Given the description of an element on the screen output the (x, y) to click on. 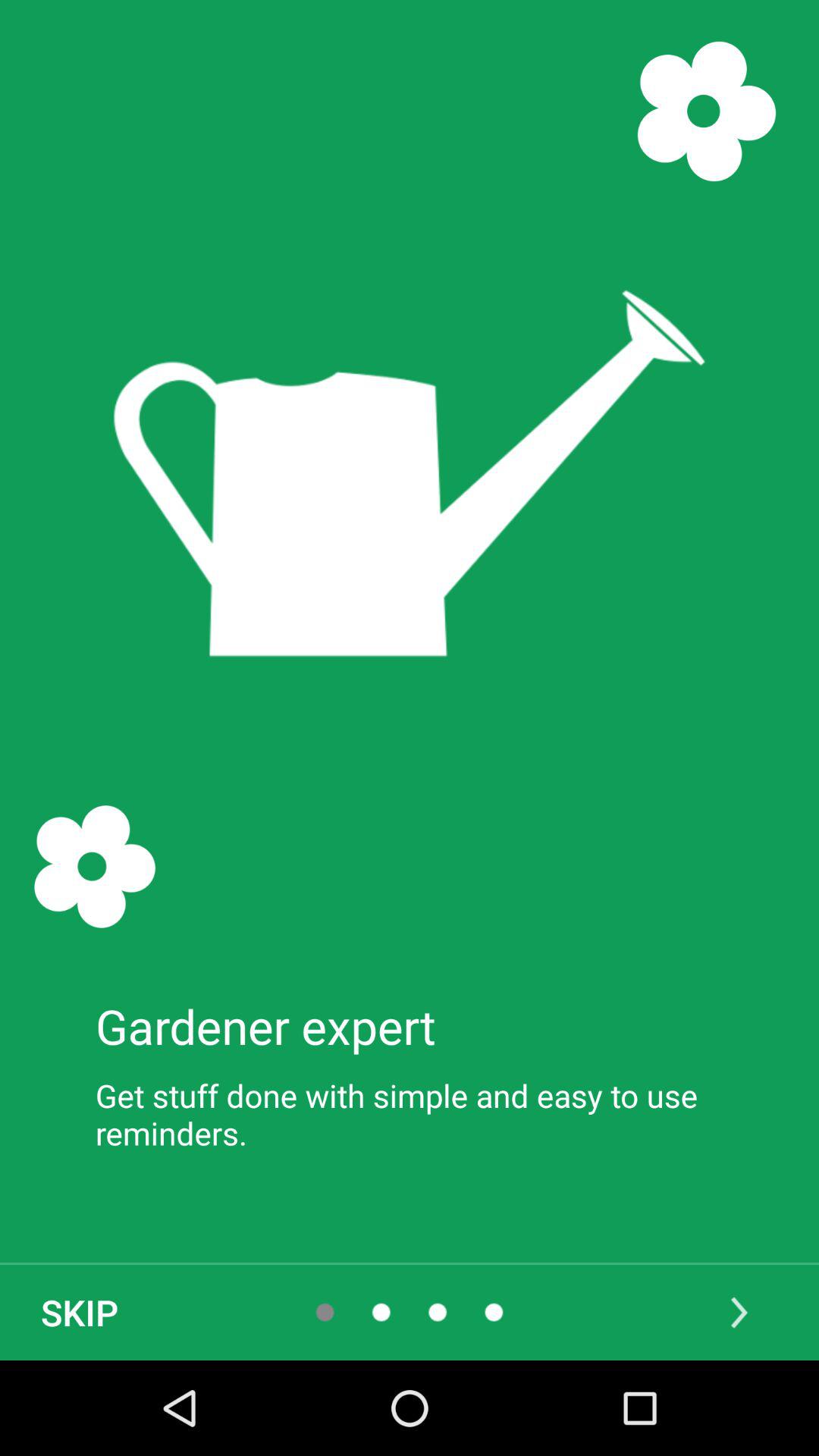
tap the icon at the bottom left corner (79, 1312)
